Given the description of an element on the screen output the (x, y) to click on. 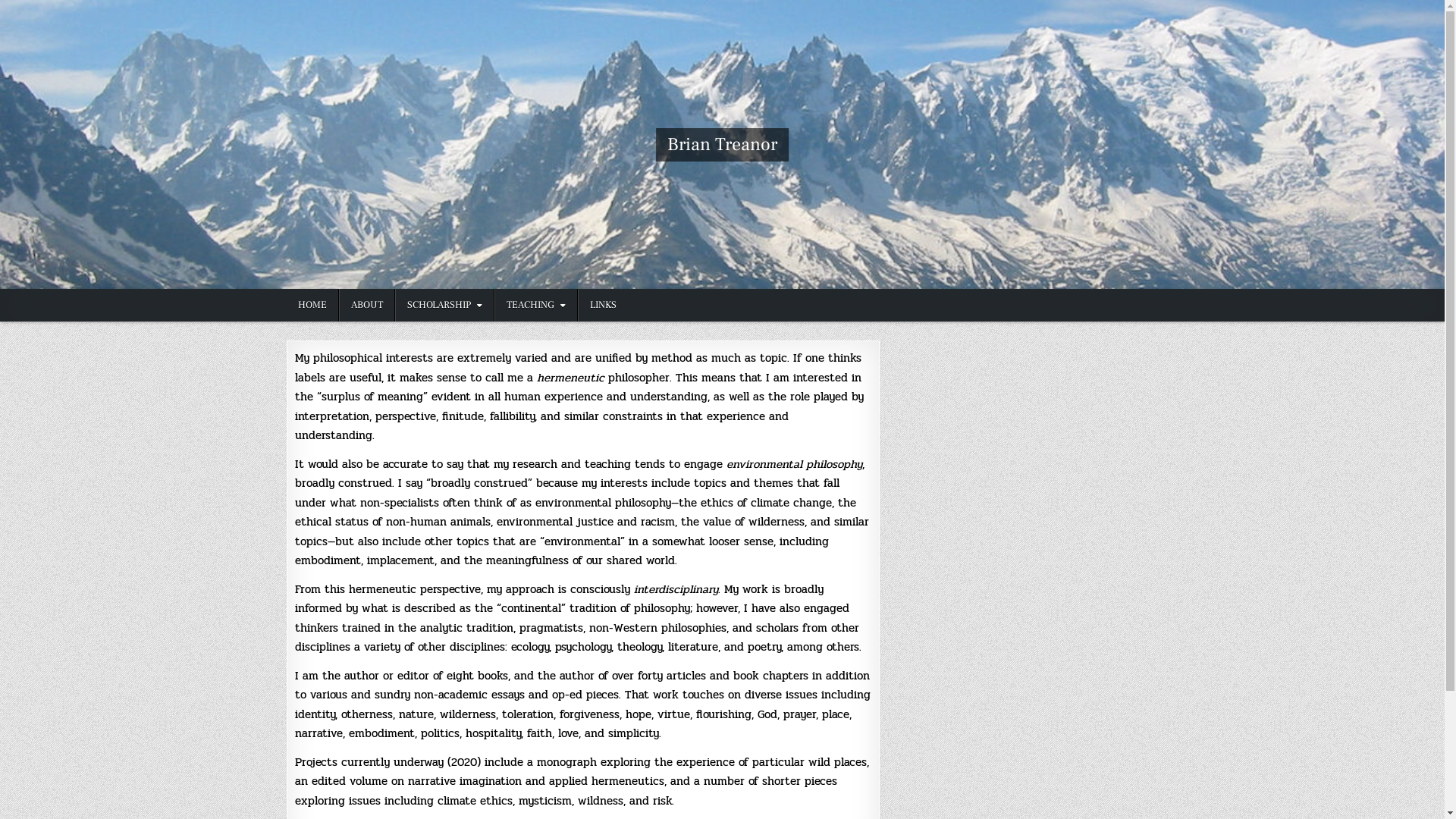
TEACHING Element type: text (535, 304)
LINKS Element type: text (602, 304)
HOME Element type: text (312, 304)
SCHOLARSHIP Element type: text (443, 304)
ABOUT Element type: text (366, 304)
